Given the description of an element on the screen output the (x, y) to click on. 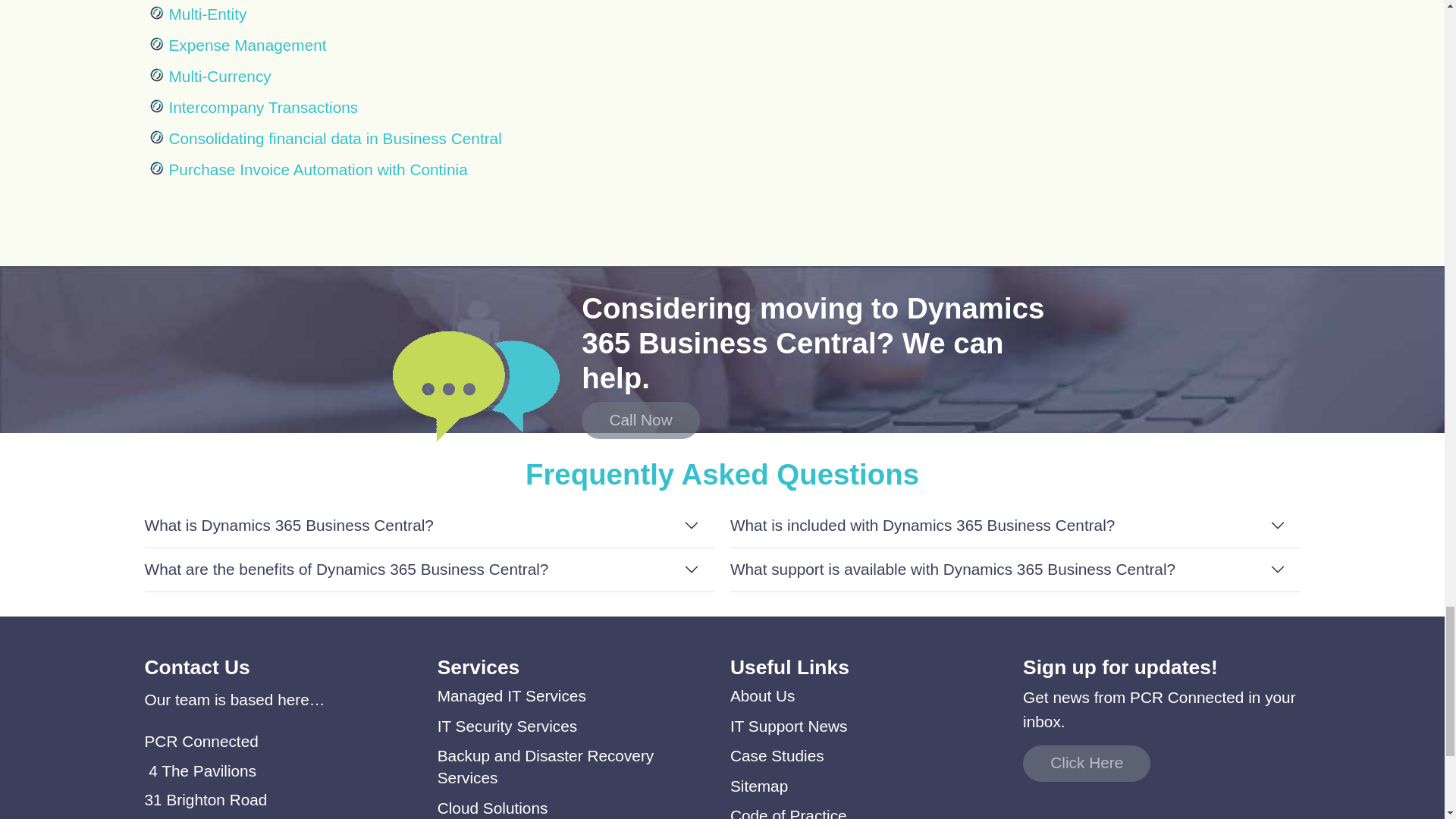
YouTube video player (1015, 115)
Managed IT Services (512, 695)
